Given the description of an element on the screen output the (x, y) to click on. 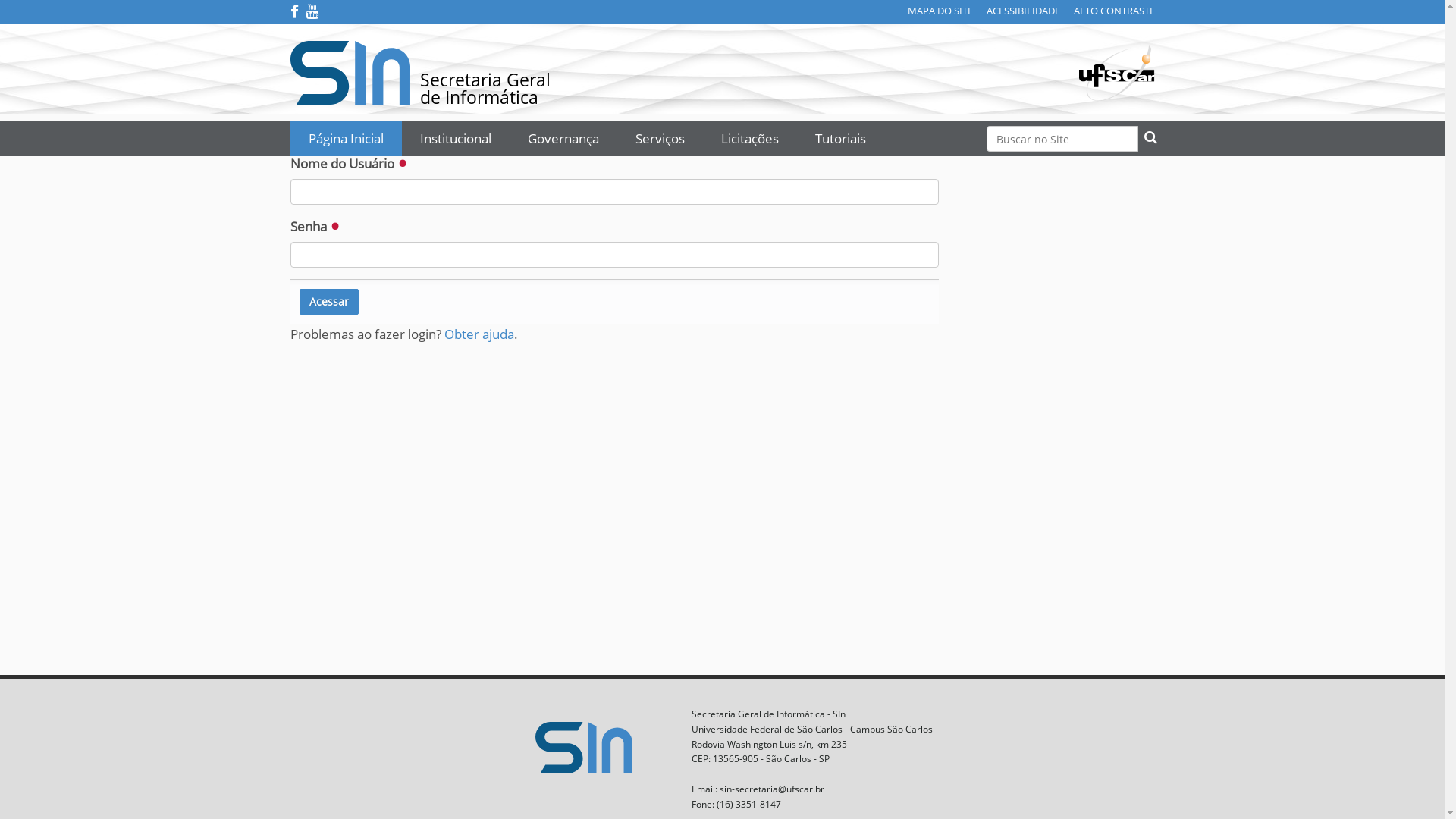
MAPA DO SITE Element type: text (939, 10)
Portal UFSCar Element type: hover (1116, 71)
Acessar Element type: text (327, 301)
ALTO CONTRASTE Element type: text (1113, 10)
Tutoriais Element type: text (839, 138)
Institucional Element type: text (455, 138)
ACESSIBILIDADE Element type: text (1022, 10)
logo.svg Element type: hover (597, 739)
Buscar no Site Element type: hover (1061, 138)
Obter ajuda Element type: text (479, 333)
